Given the description of an element on the screen output the (x, y) to click on. 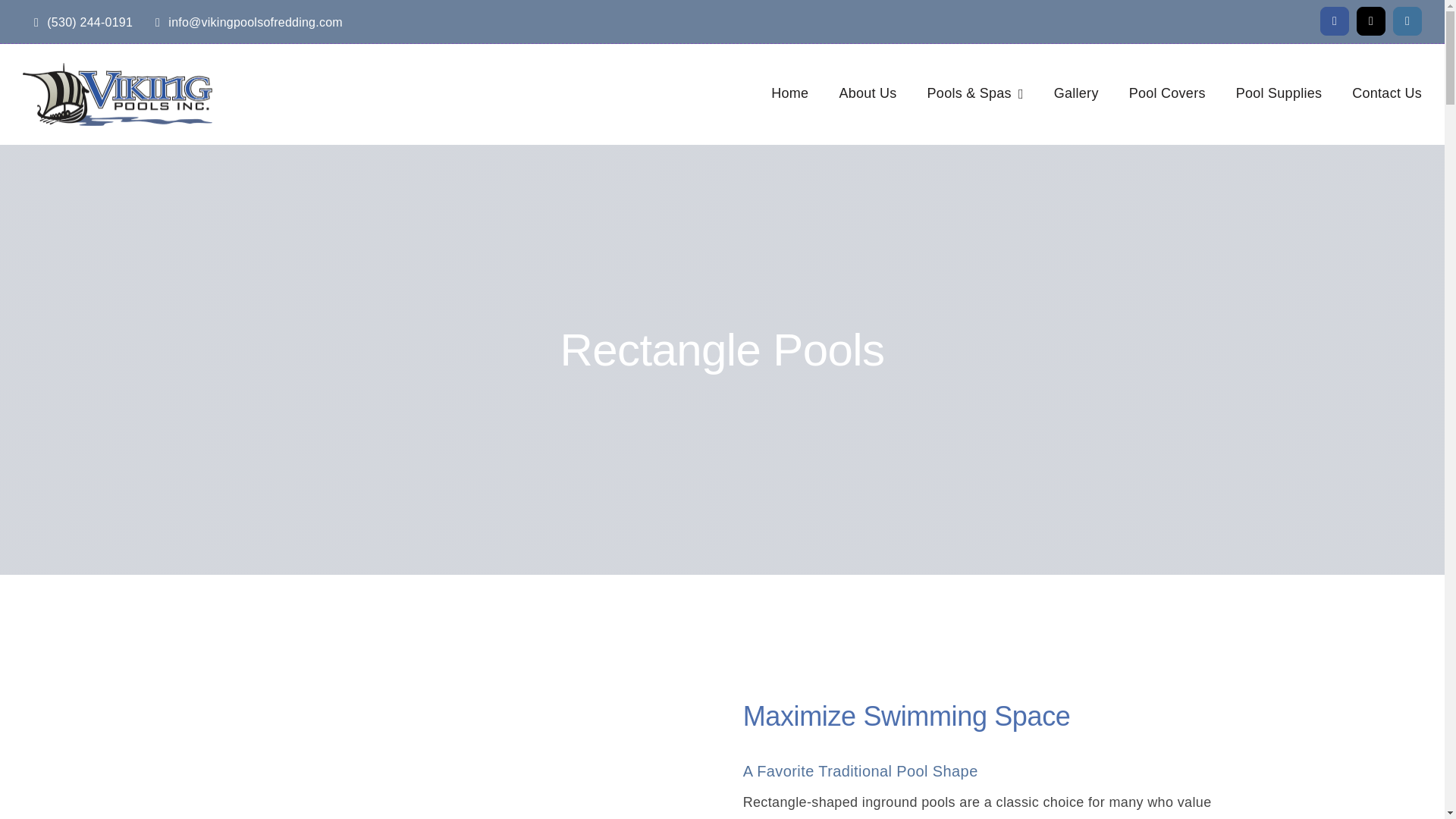
Maximize Swimming Space (453, 734)
Pool Covers (1167, 93)
About Us (867, 93)
Pool Supplies (1279, 93)
Contact Us (1387, 93)
